Given the description of an element on the screen output the (x, y) to click on. 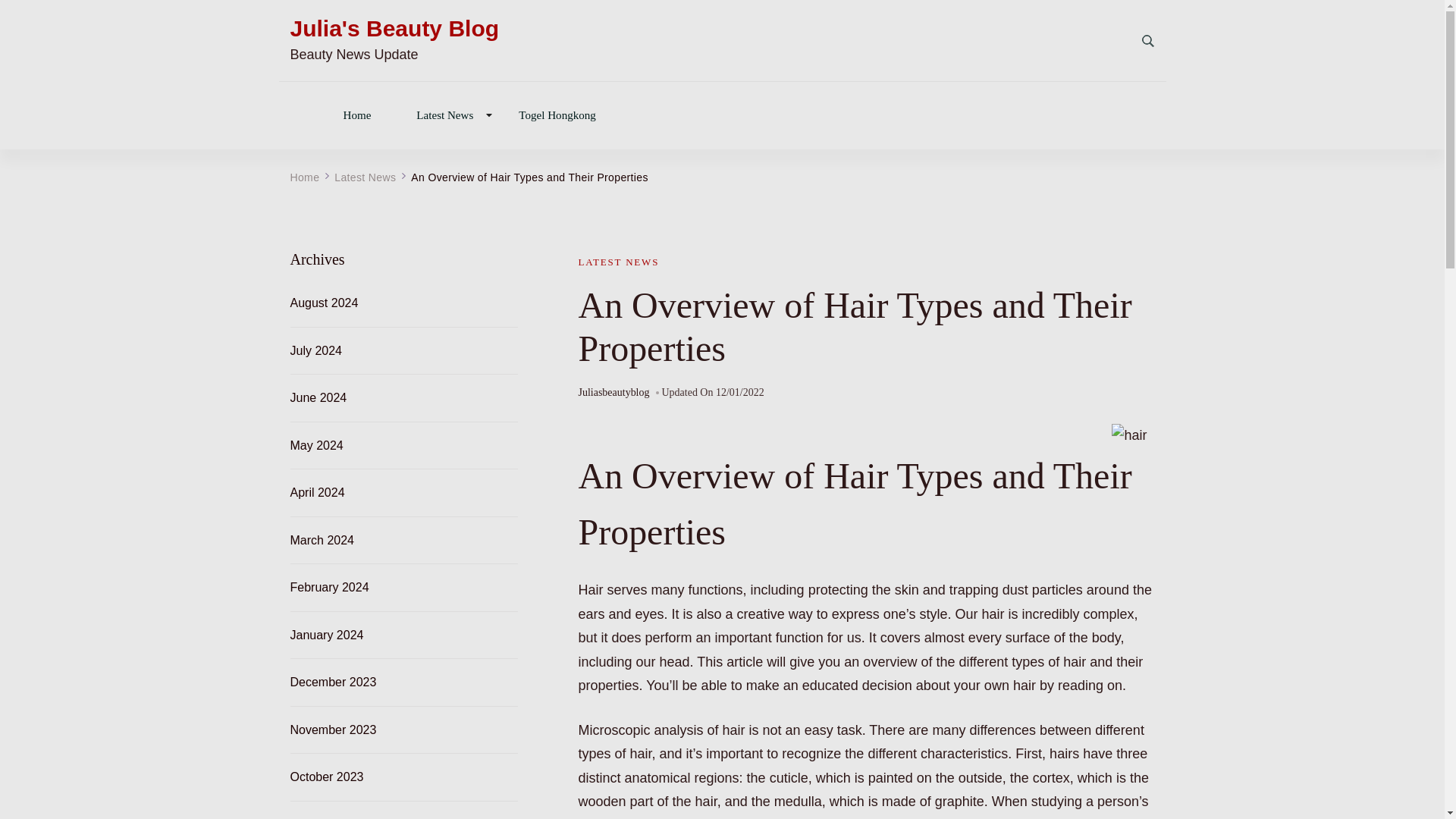
Togel Hongkong (556, 114)
Julia's Beauty Blog (394, 28)
An Overview of Hair Types and Their Properties (528, 177)
Latest News (365, 177)
LATEST NEWS (618, 262)
Home (303, 177)
Home (356, 114)
Latest News (444, 114)
Juliasbeautyblog (613, 393)
